Given the description of an element on the screen output the (x, y) to click on. 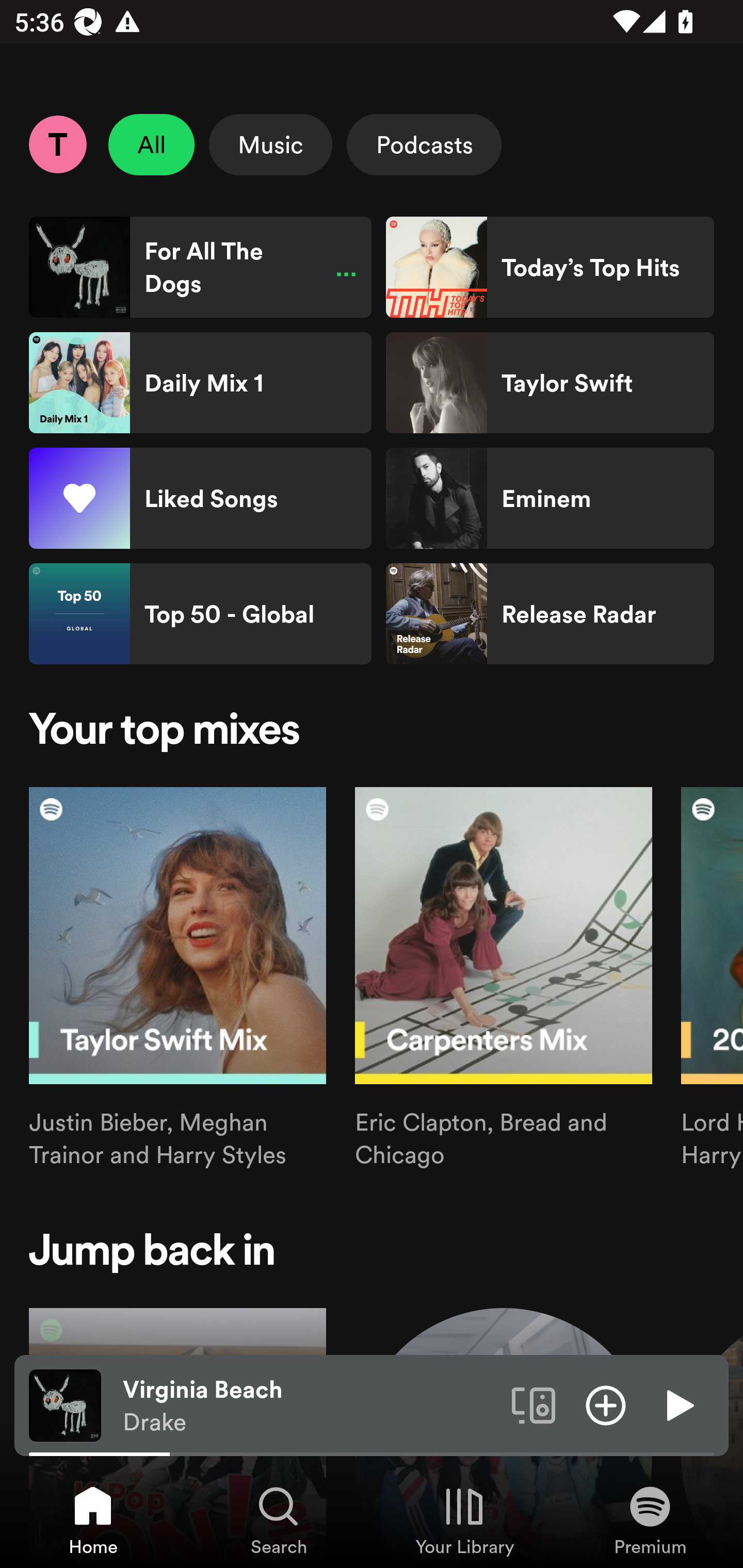
Profile (57, 144)
All Unselect All (151, 144)
Music Select Music (270, 144)
Podcasts Select Podcasts (423, 144)
For All The Dogs Shortcut For All The Dogs Paused (199, 267)
Today’s Top Hits Shortcut Today’s Top Hits (549, 267)
Daily Mix 1 Shortcut Daily Mix 1 (199, 382)
Taylor Swift Shortcut Taylor Swift (549, 382)
Liked Songs Shortcut Liked Songs (199, 498)
Eminem Shortcut Eminem (549, 498)
Top 50 - Global Shortcut Top 50 - Global (199, 613)
Release Radar Shortcut Release Radar (549, 613)
Virginia Beach Drake (309, 1405)
The cover art of the currently playing track (64, 1404)
Connect to a device. Opens the devices menu (533, 1404)
Add item (605, 1404)
Play (677, 1404)
Home, Tab 1 of 4 Home Home (92, 1519)
Search, Tab 2 of 4 Search Search (278, 1519)
Your Library, Tab 3 of 4 Your Library Your Library (464, 1519)
Premium, Tab 4 of 4 Premium Premium (650, 1519)
